Given the description of an element on the screen output the (x, y) to click on. 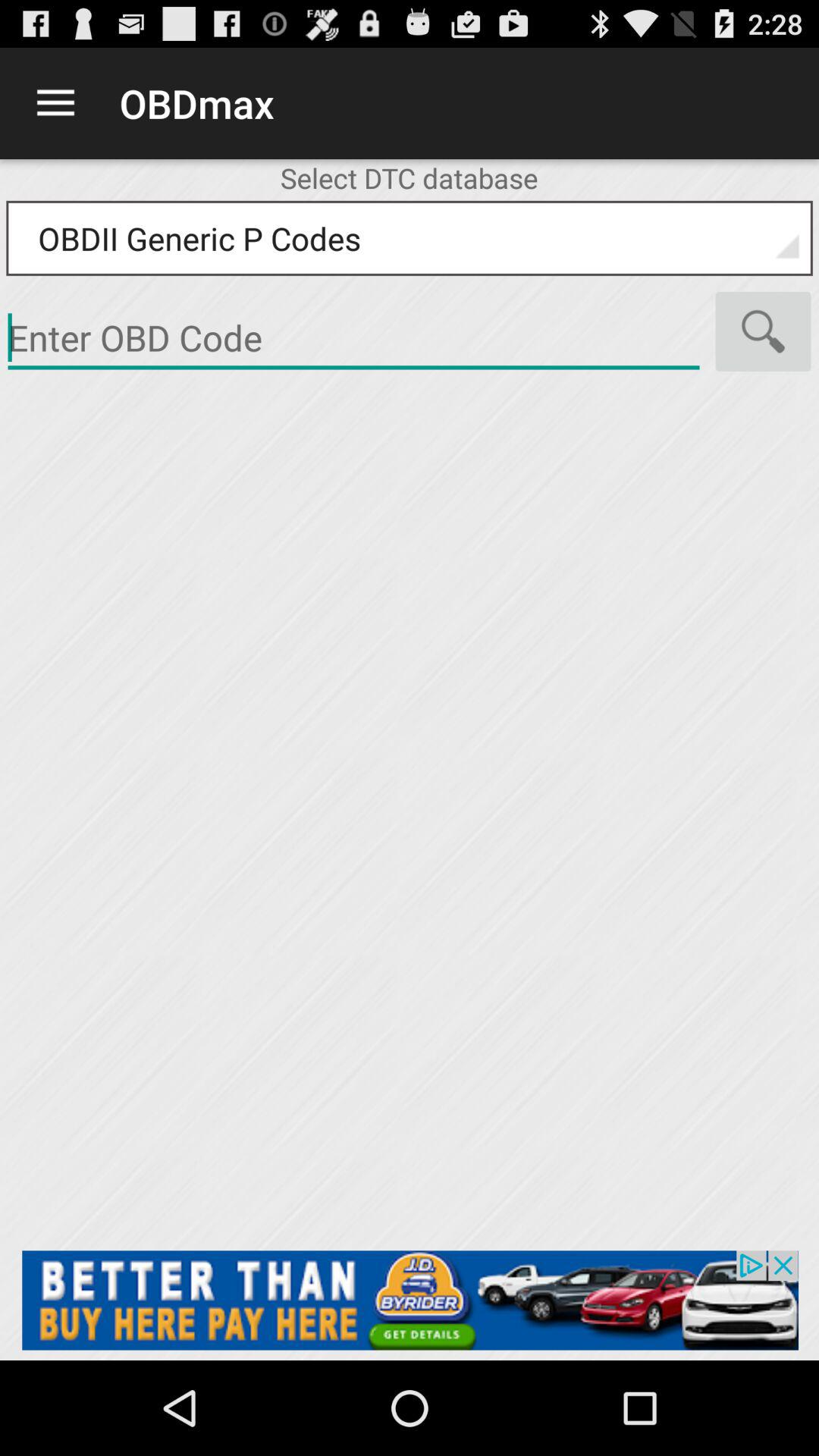
advertisement click option (409, 1300)
